Given the description of an element on the screen output the (x, y) to click on. 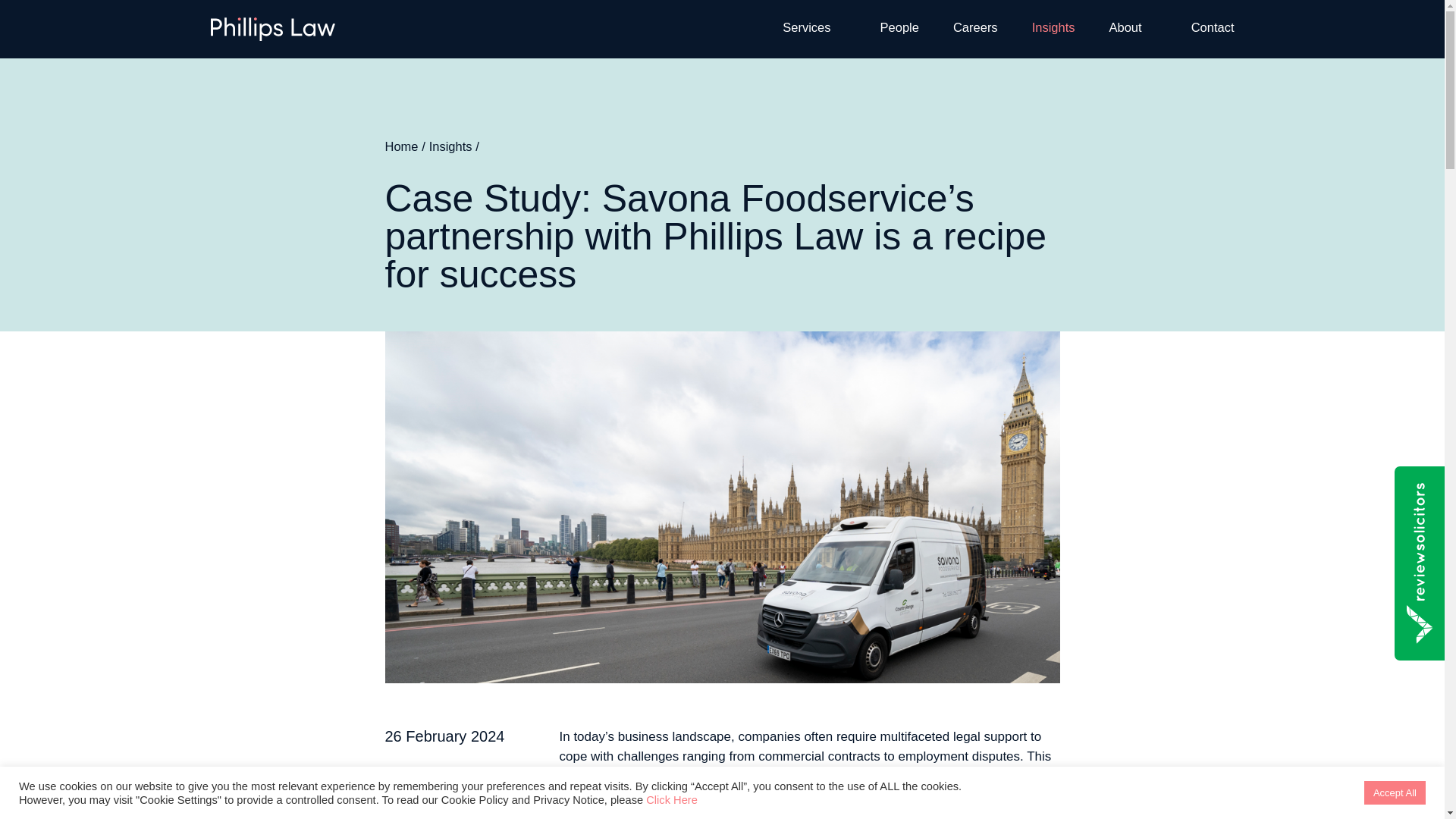
Home (402, 146)
Careers (975, 26)
People (899, 26)
Insights (1053, 26)
Insights (450, 146)
About (1124, 26)
Savona Foodservice (951, 775)
Services (806, 26)
Contact (1212, 26)
